Given the description of an element on the screen output the (x, y) to click on. 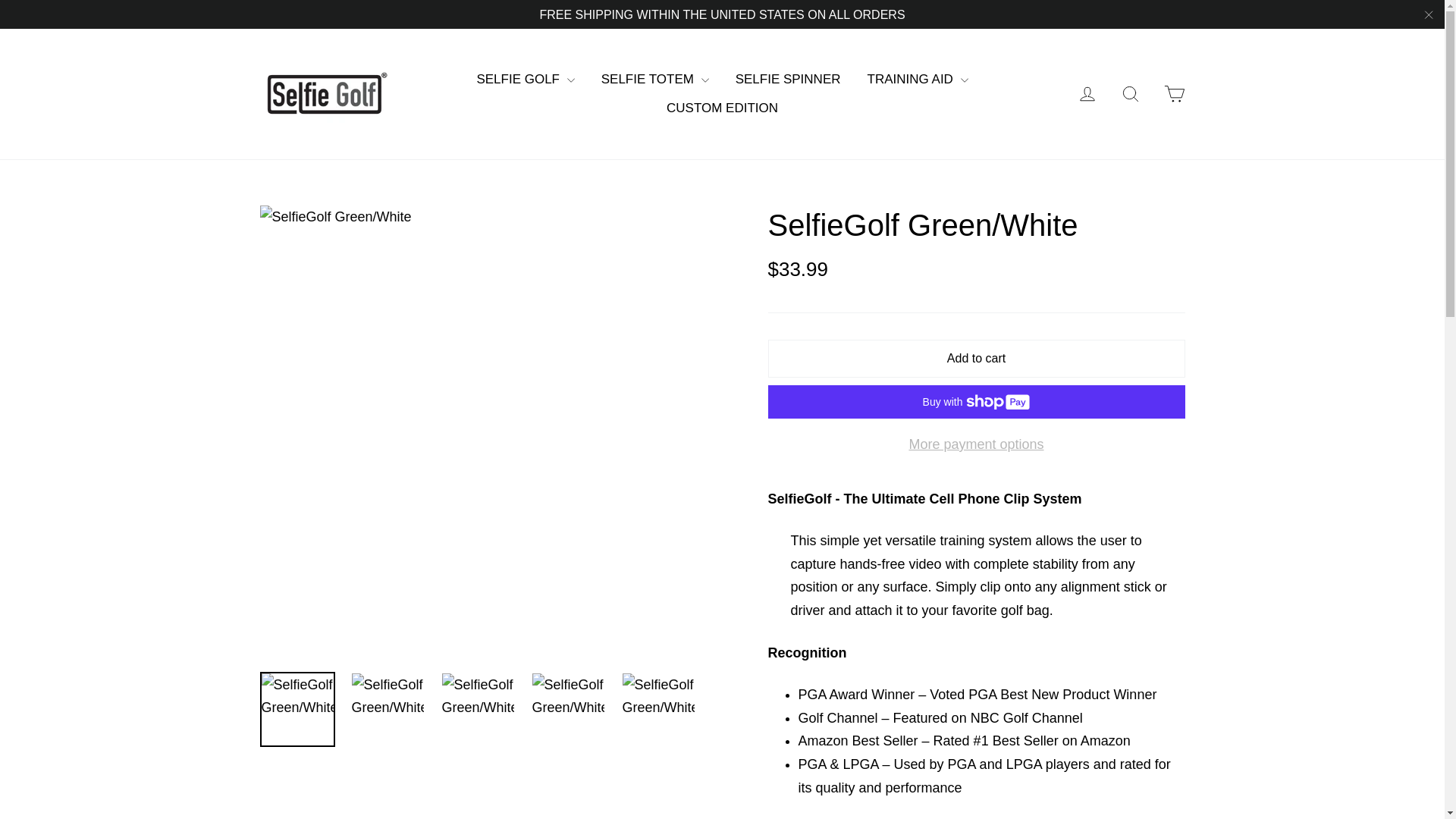
TRAINING AID (917, 80)
SELFIE TOTEM (654, 80)
SELFIE SPINNER (787, 80)
SELFIE GOLF (524, 80)
CUSTOM EDITION (722, 108)
